Given the description of an element on the screen output the (x, y) to click on. 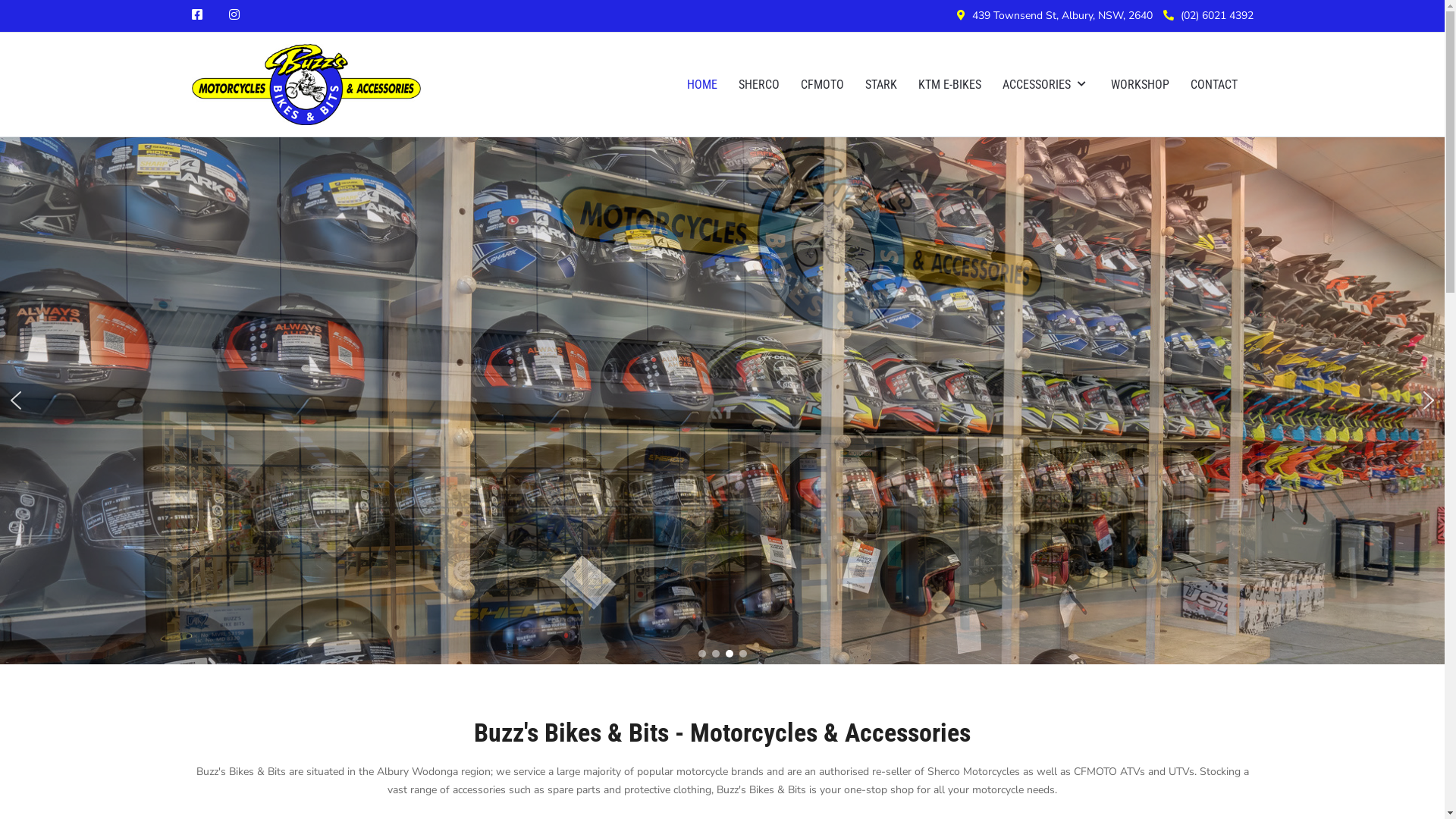
STARK Element type: text (879, 84)
CFMOTO Element type: text (822, 84)
HOME Element type: text (702, 84)
Instagram Element type: hover (234, 14)
439 Townsend St, Albury, NSW, 2640 Element type: text (1062, 15)
KTM E-BIKES Element type: text (948, 84)
WORKSHOP Element type: text (1139, 84)
ACCESSORIES Element type: text (1045, 84)
(02) 6021 4392 Element type: text (1215, 15)
Facebook Element type: hover (196, 14)
SHERCO Element type: text (759, 84)
CONTACT Element type: text (1213, 84)
